Given the description of an element on the screen output the (x, y) to click on. 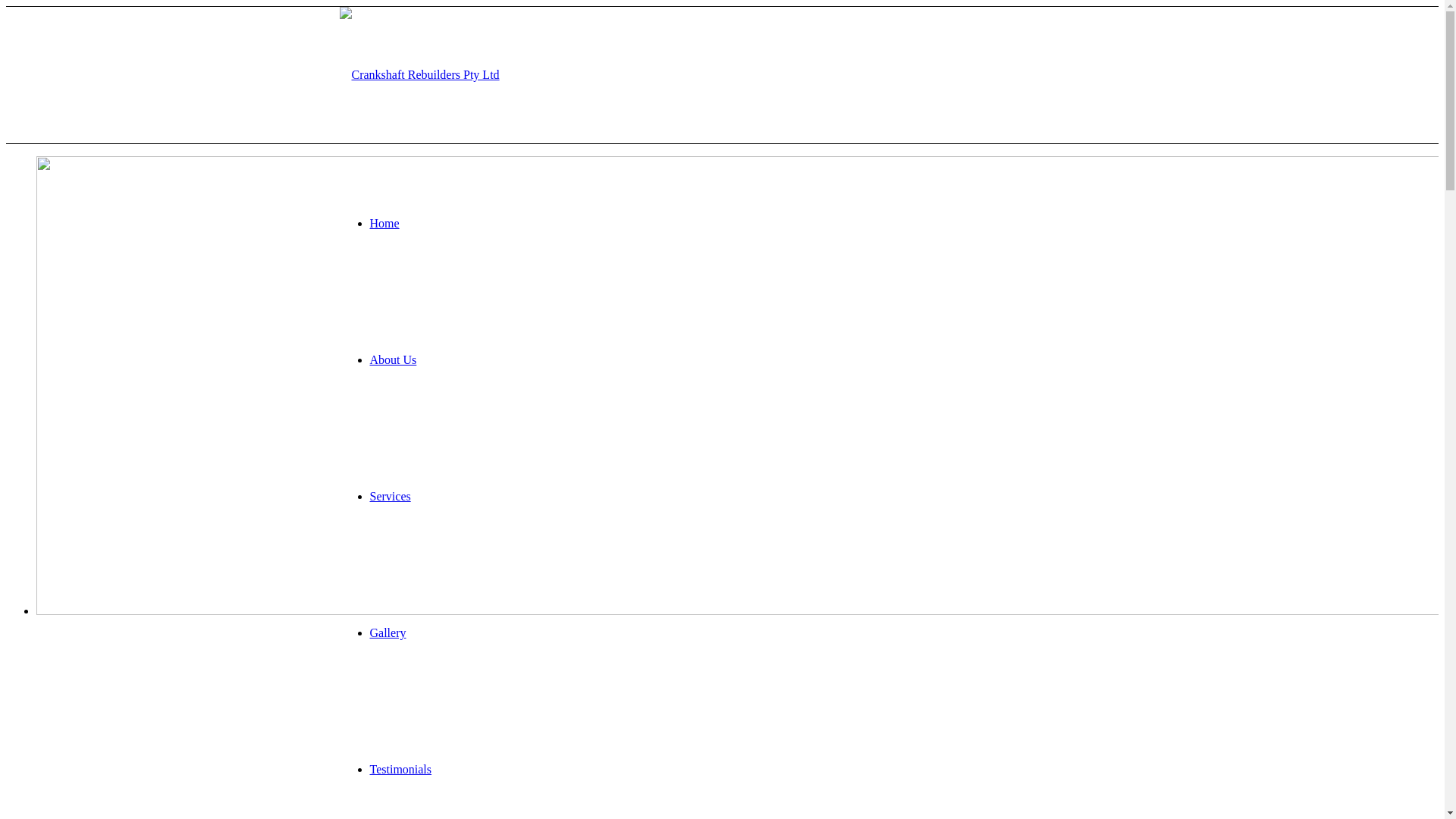
Home Element type: text (384, 222)
About Us Element type: text (393, 359)
Services Element type: text (390, 495)
Gallery Element type: text (388, 632)
Testimonials Element type: text (401, 768)
